Given the description of an element on the screen output the (x, y) to click on. 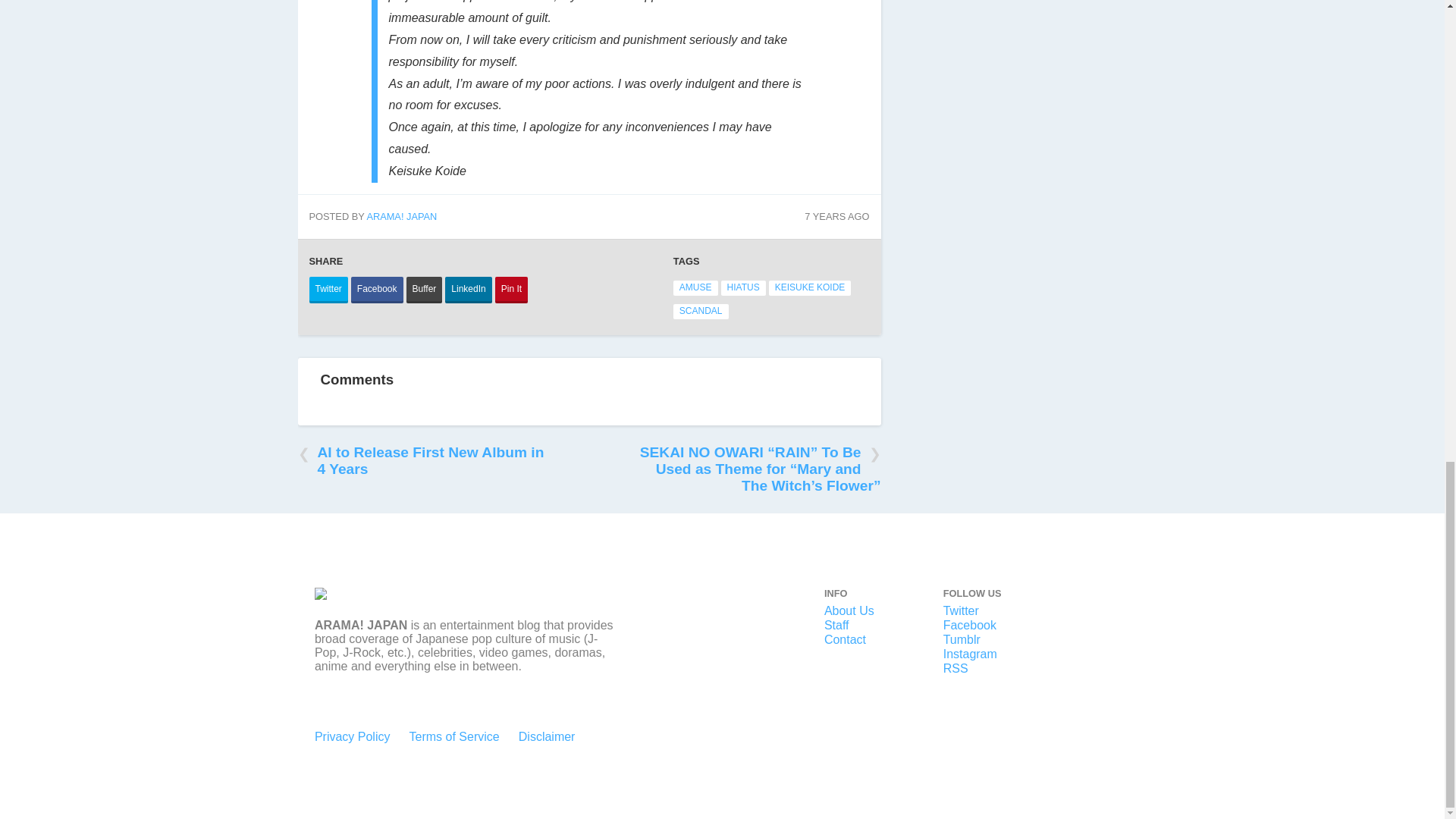
LinkedIn (468, 289)
Disclaimer (546, 736)
Pin It (511, 289)
Facebook (376, 289)
ARAMA! JAPAN Official Twitter (960, 610)
Buffer (424, 289)
AMUSE (694, 287)
About Us (849, 610)
ARAMA! JAPAN (401, 215)
Twitter (327, 289)
